Given the description of an element on the screen output the (x, y) to click on. 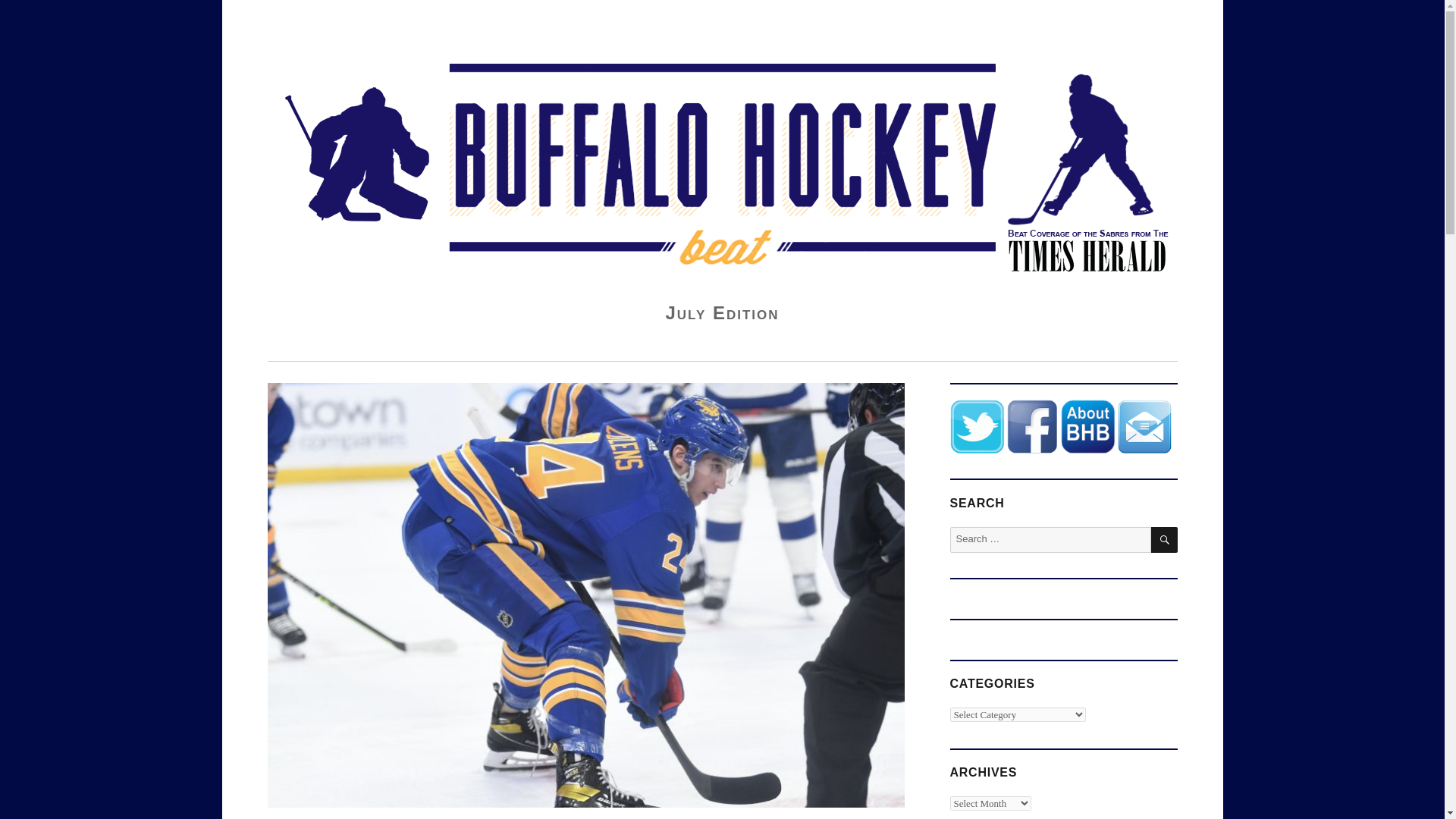
Buffalo Hockey Beat (369, 33)
SEARCH (1164, 539)
